Given the description of an element on the screen output the (x, y) to click on. 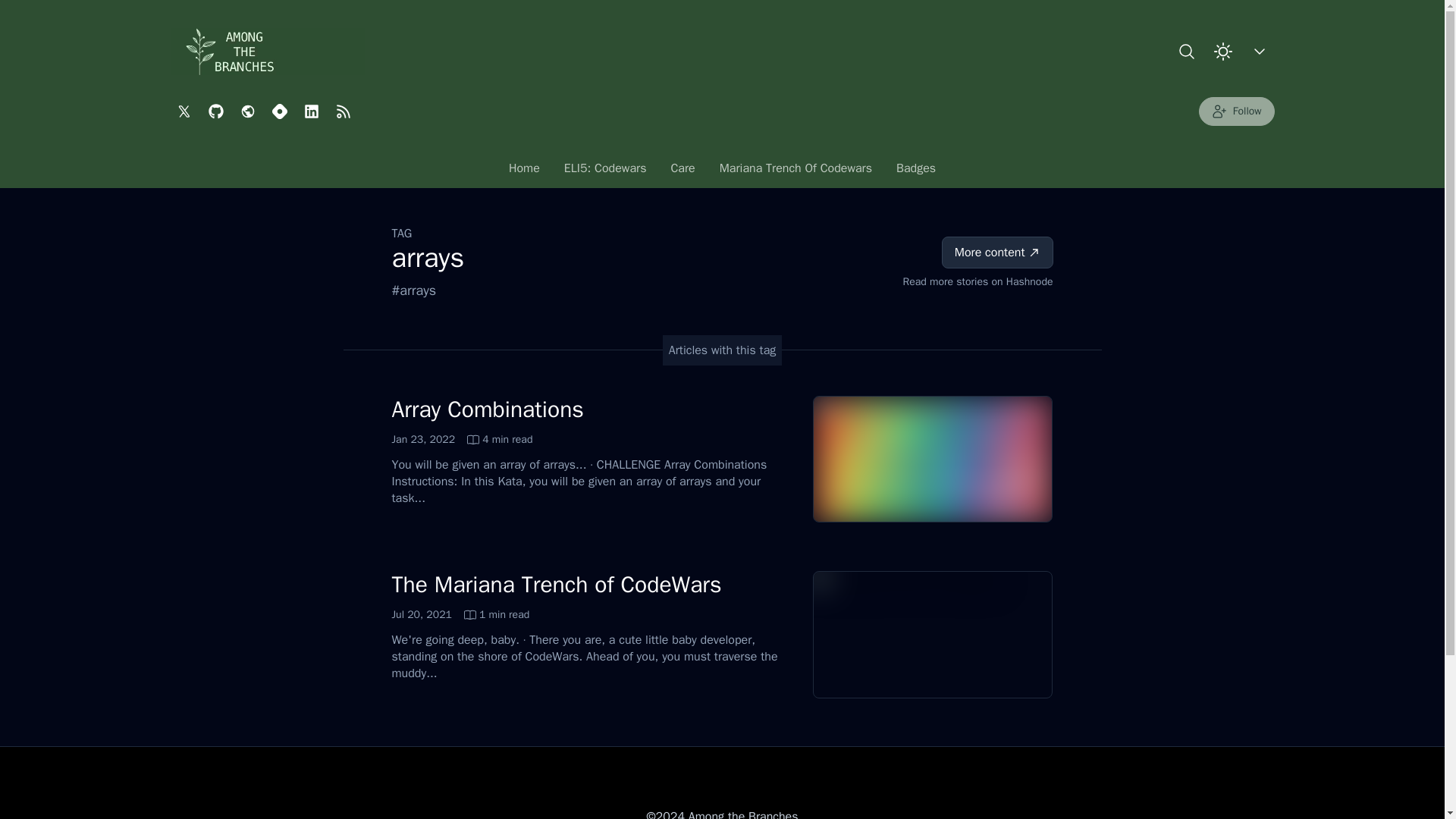
Home (460, 614)
Badges (523, 172)
Follow (915, 172)
Mariana Trench Of Codewars (1236, 111)
ELI5: Codewars (795, 172)
The Mariana Trench of CodeWars (605, 172)
Array Combinations (555, 584)
Care (487, 409)
